Given the description of an element on the screen output the (x, y) to click on. 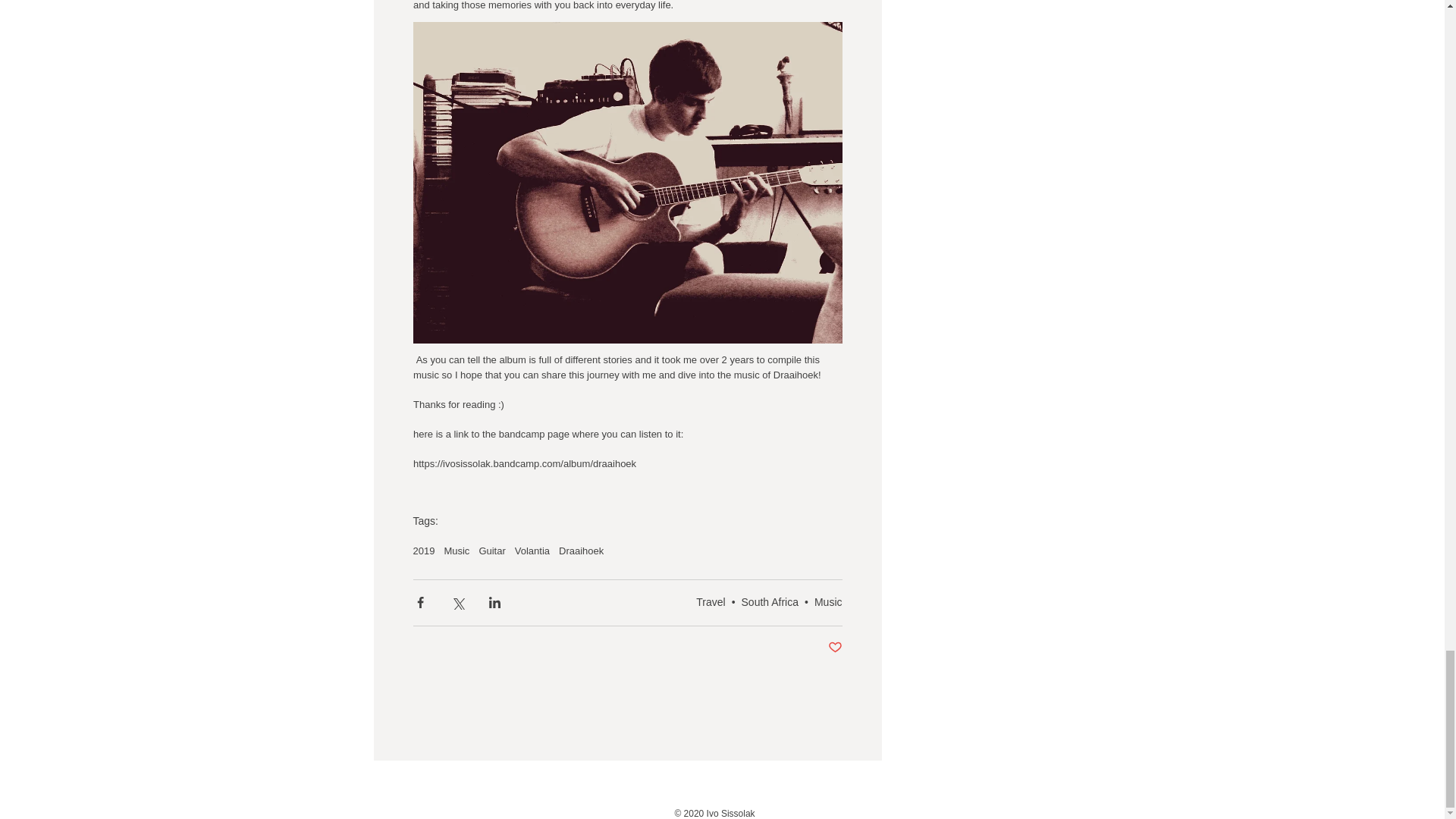
Draaihoek (581, 550)
Post not marked as liked (835, 647)
Guitar (492, 550)
2019 (422, 550)
Travel (710, 602)
Music (456, 550)
South Africa (770, 602)
Volantia (532, 550)
Music (828, 602)
